Given the description of an element on the screen output the (x, y) to click on. 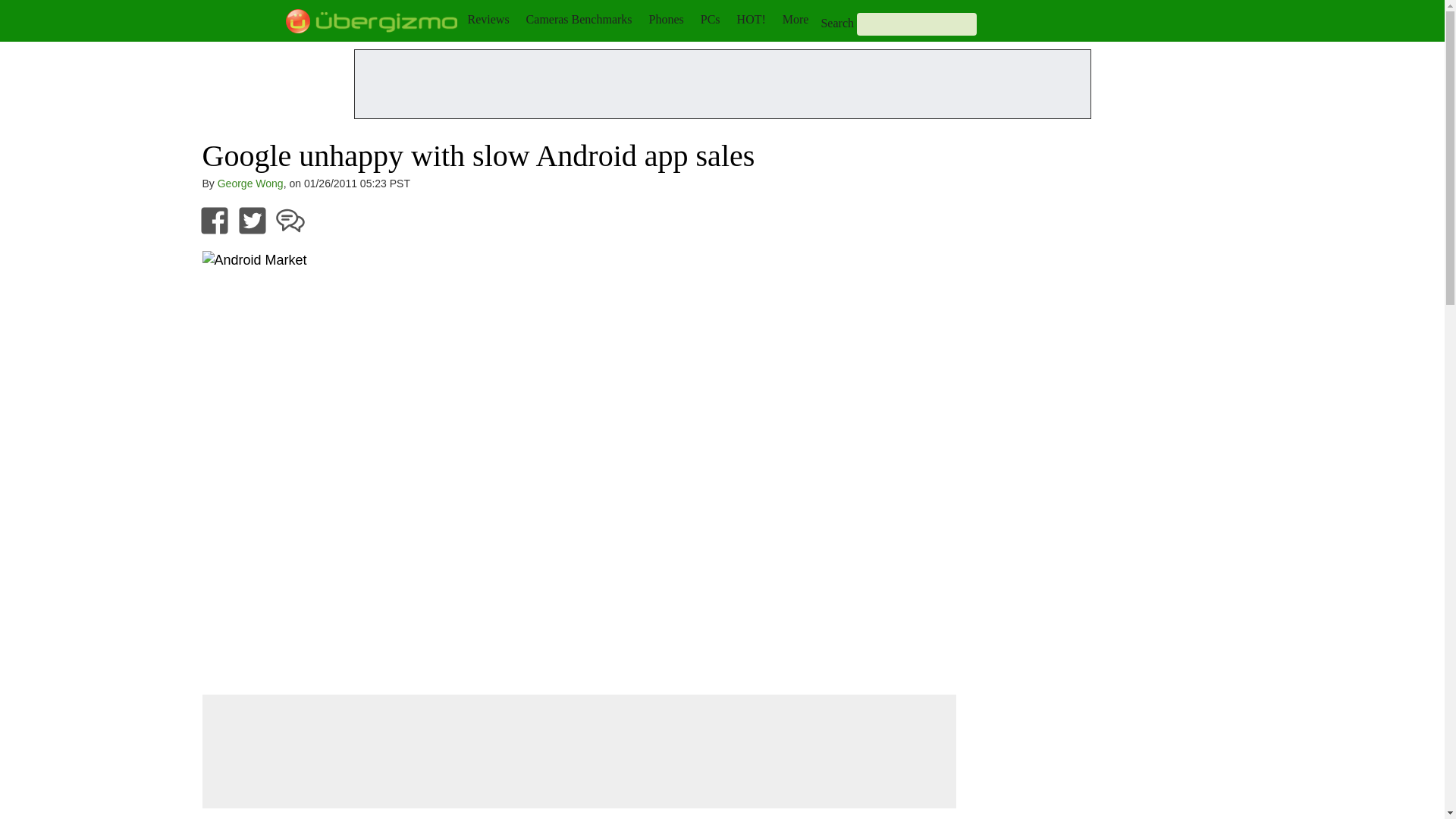
PCs (710, 19)
Phones (666, 19)
Reviews (487, 19)
Cameras Benchmarks (578, 19)
